Given the description of an element on the screen output the (x, y) to click on. 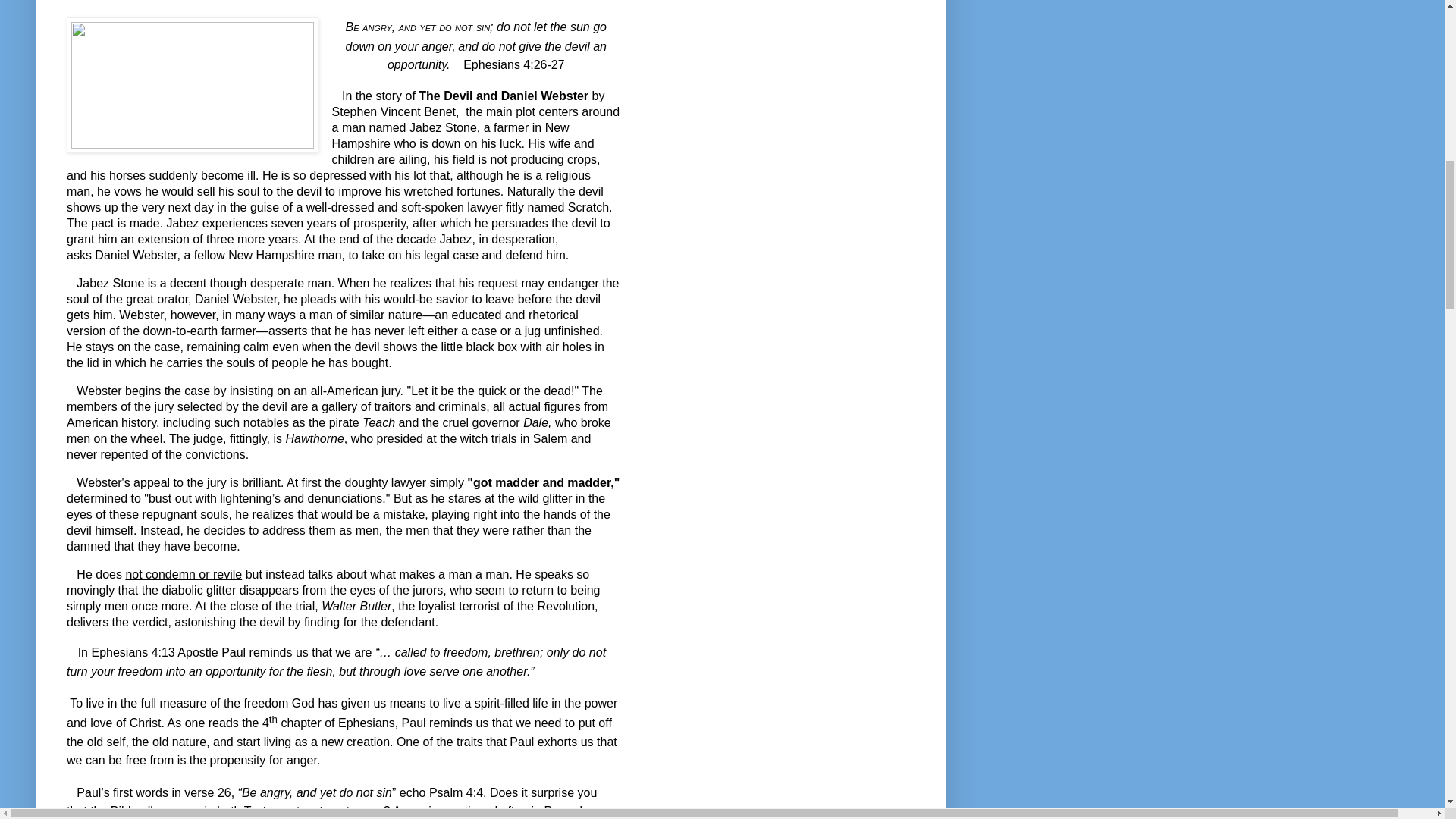
Walter Butler (356, 605)
New Hampshire (450, 134)
New Hampshire (271, 254)
Daniel Webster (135, 254)
